Given the description of an element on the screen output the (x, y) to click on. 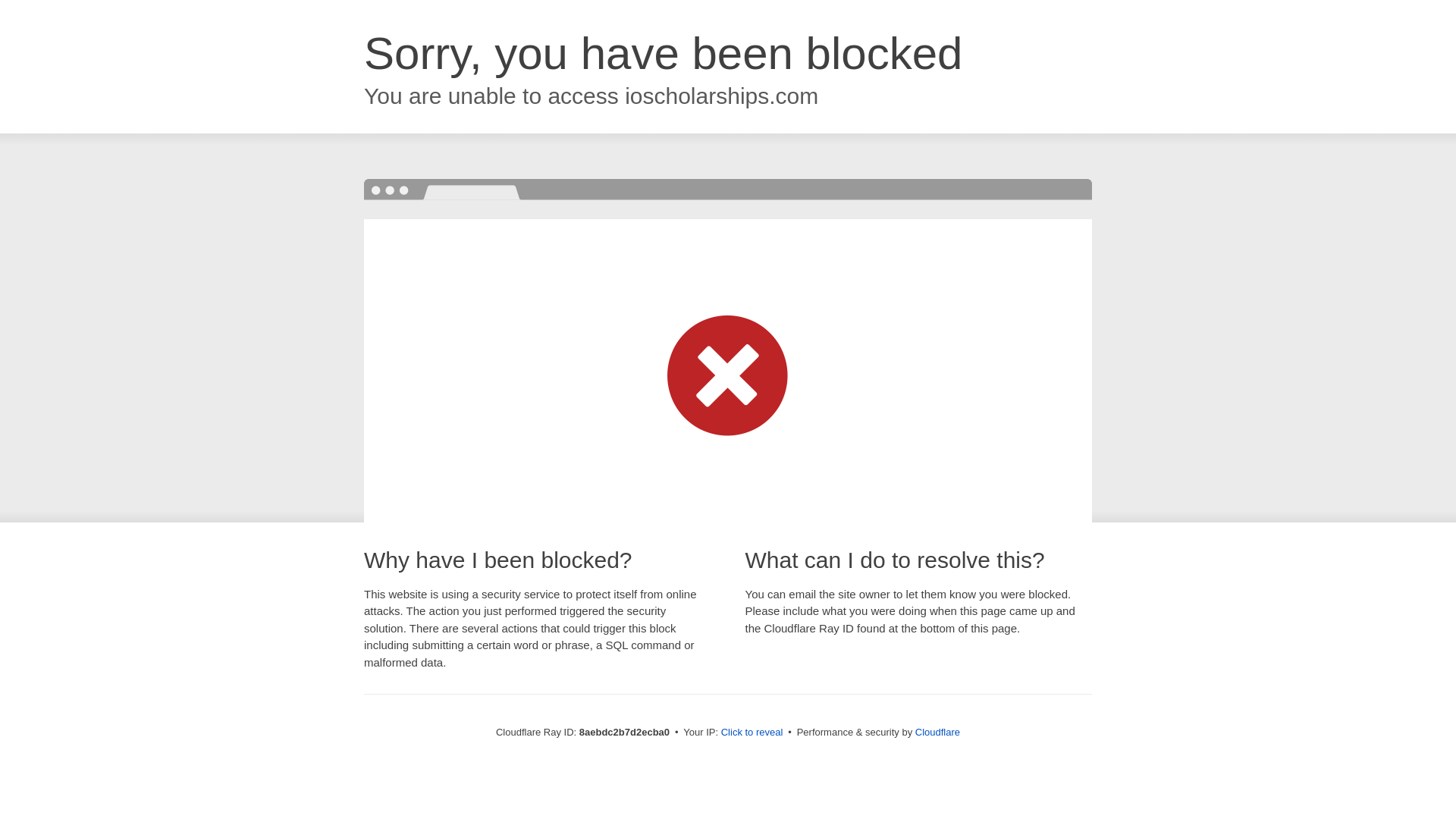
Click to reveal (751, 732)
Cloudflare (937, 731)
